Given the description of an element on the screen output the (x, y) to click on. 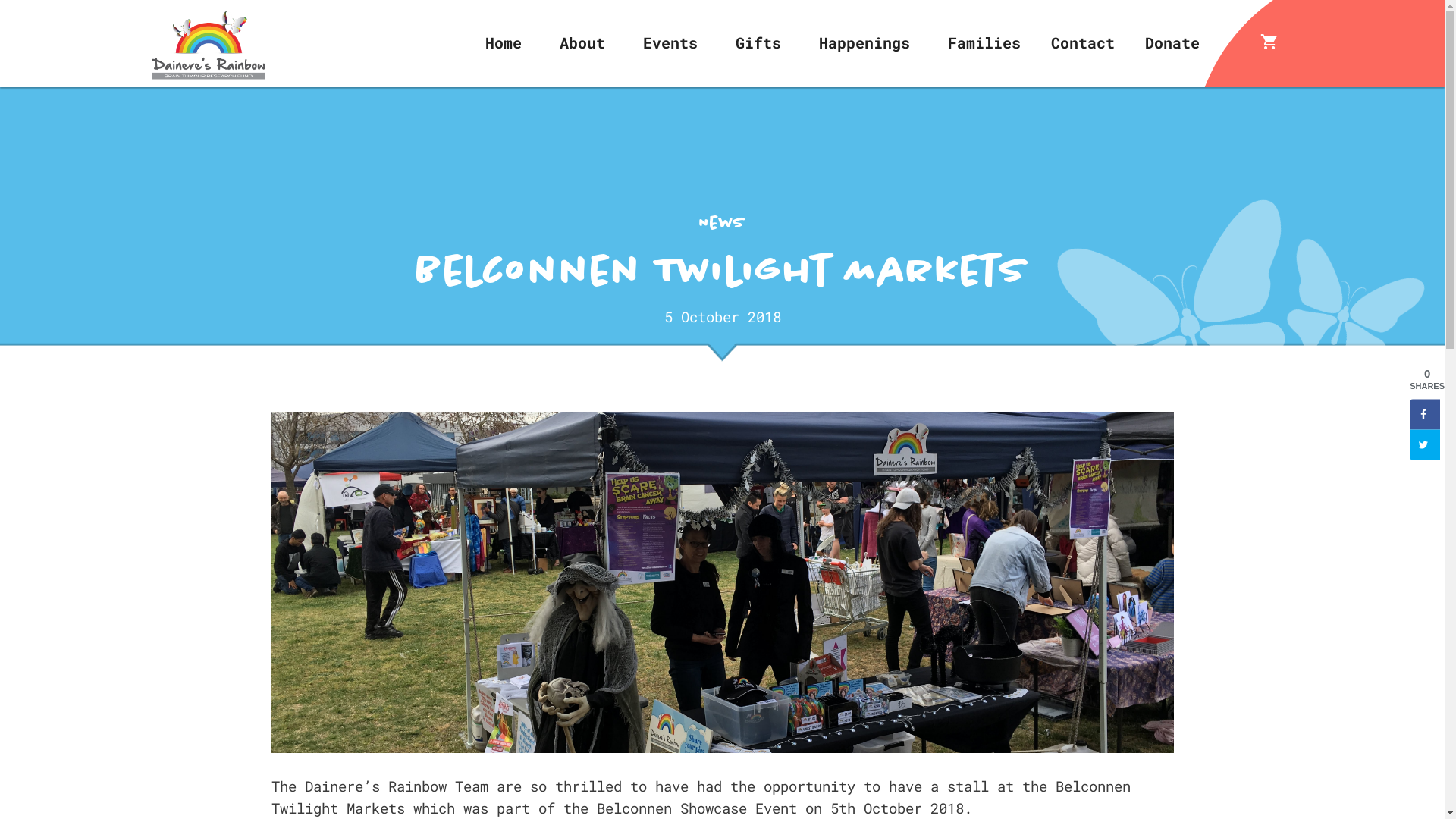
View your shopping cart Element type: hover (1268, 42)
Share on Facebook Element type: hover (1424, 413)
Events Element type: text (669, 42)
Contact Element type: text (1082, 42)
Happenings Element type: text (864, 42)
Donate Element type: text (1171, 42)
About Element type: text (582, 42)
Home Element type: text (503, 42)
News Element type: text (722, 222)
Gifts Element type: text (758, 42)
Share on Twitter Element type: hover (1424, 444)
Families Element type: text (983, 42)
5 October 2018 Element type: text (722, 316)
